Given the description of an element on the screen output the (x, y) to click on. 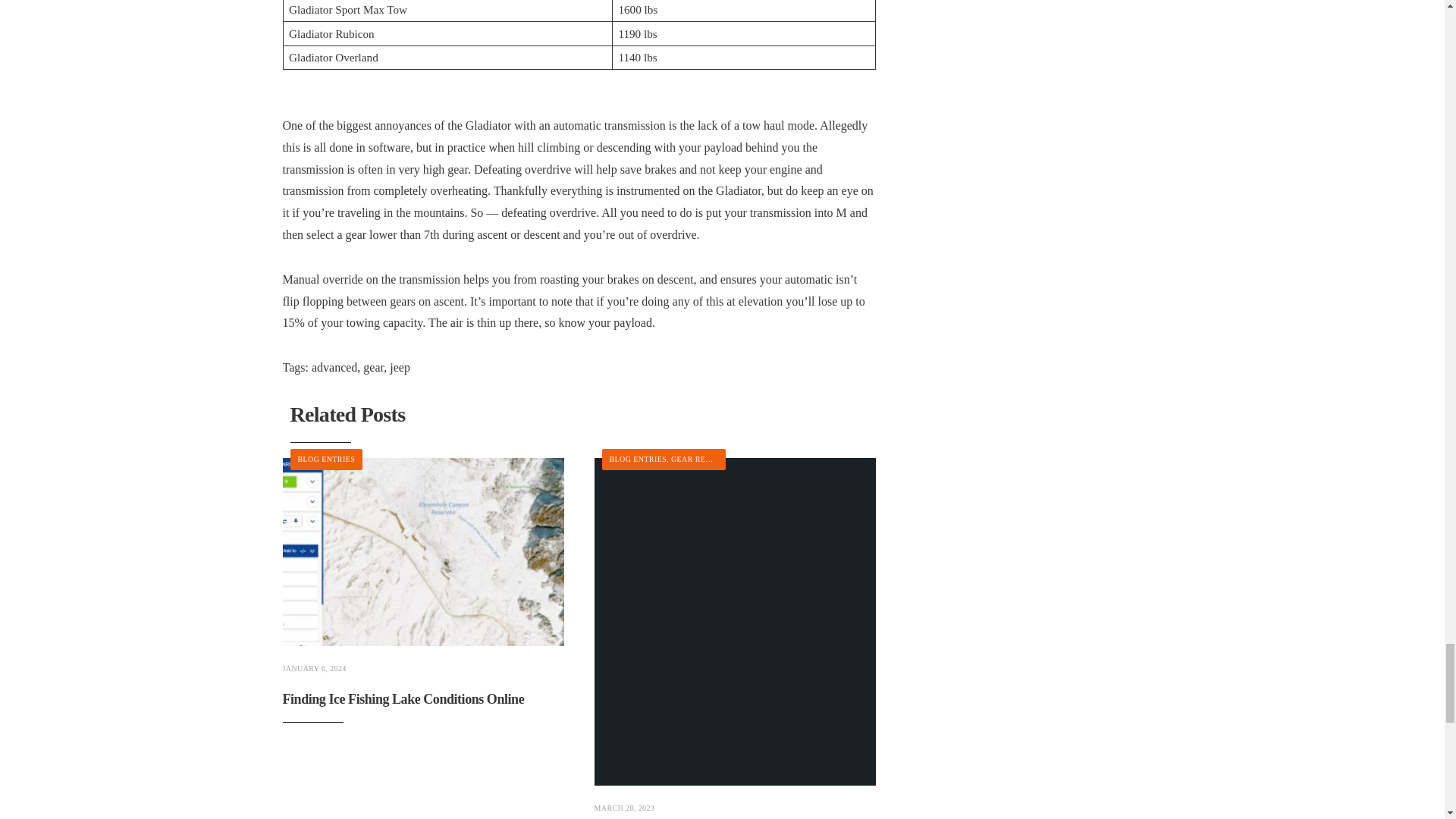
jeep (400, 367)
advanced (333, 367)
gear (373, 367)
